Given the description of an element on the screen output the (x, y) to click on. 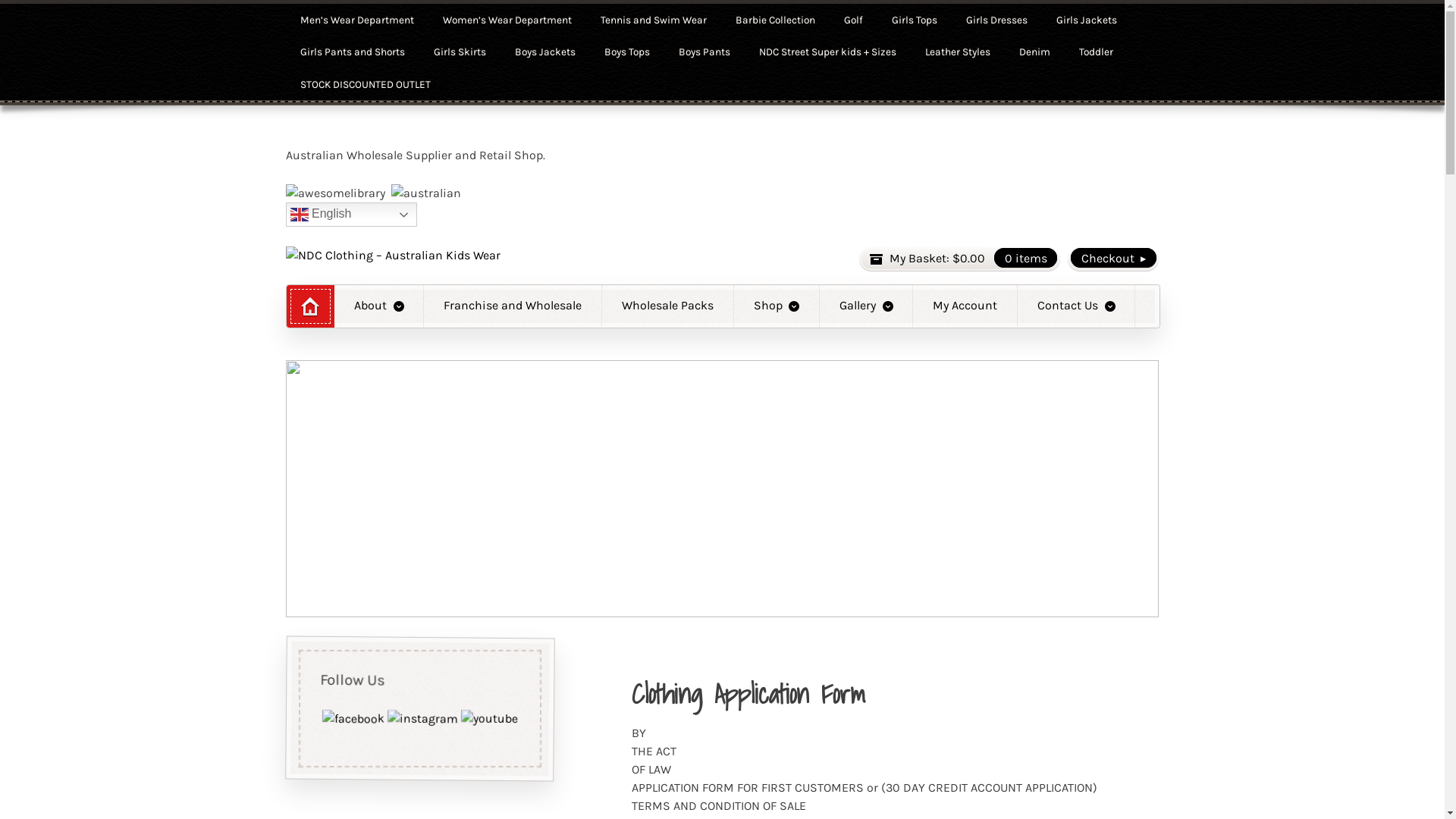
Tennis and Swim Wear Element type: text (653, 19)
Girls Dresses Element type: text (996, 19)
My Basket: $0.00 0 items Element type: text (959, 258)
Checkout Element type: text (1112, 258)
Leather Styles Element type: text (957, 52)
Barbie Collection Element type: text (775, 19)
English Element type: text (351, 214)
Wholesale Packs Element type: text (667, 305)
Boys Pants Element type: text (704, 52)
Toddler Element type: text (1095, 52)
About Element type: text (378, 305)
Franchise and Wholesale Element type: text (512, 305)
Girls Pants and Shorts Element type: text (352, 52)
Home Element type: text (310, 306)
Gallery Element type: text (865, 305)
Denim Element type: text (1034, 52)
Golf Element type: text (853, 19)
Contact Us Element type: text (1075, 305)
Girls Skirts Element type: text (459, 52)
Boys Jackets Element type: text (544, 52)
Shop Element type: text (776, 305)
Boys Tops Element type: text (626, 52)
NDC Street Super kids + Sizes Element type: text (827, 52)
STOCK DISCOUNTED OUTLET Element type: text (365, 84)
Girls Jackets Element type: text (1086, 19)
Girls Tops Element type: text (914, 19)
My Account Element type: text (964, 305)
